Given the description of an element on the screen output the (x, y) to click on. 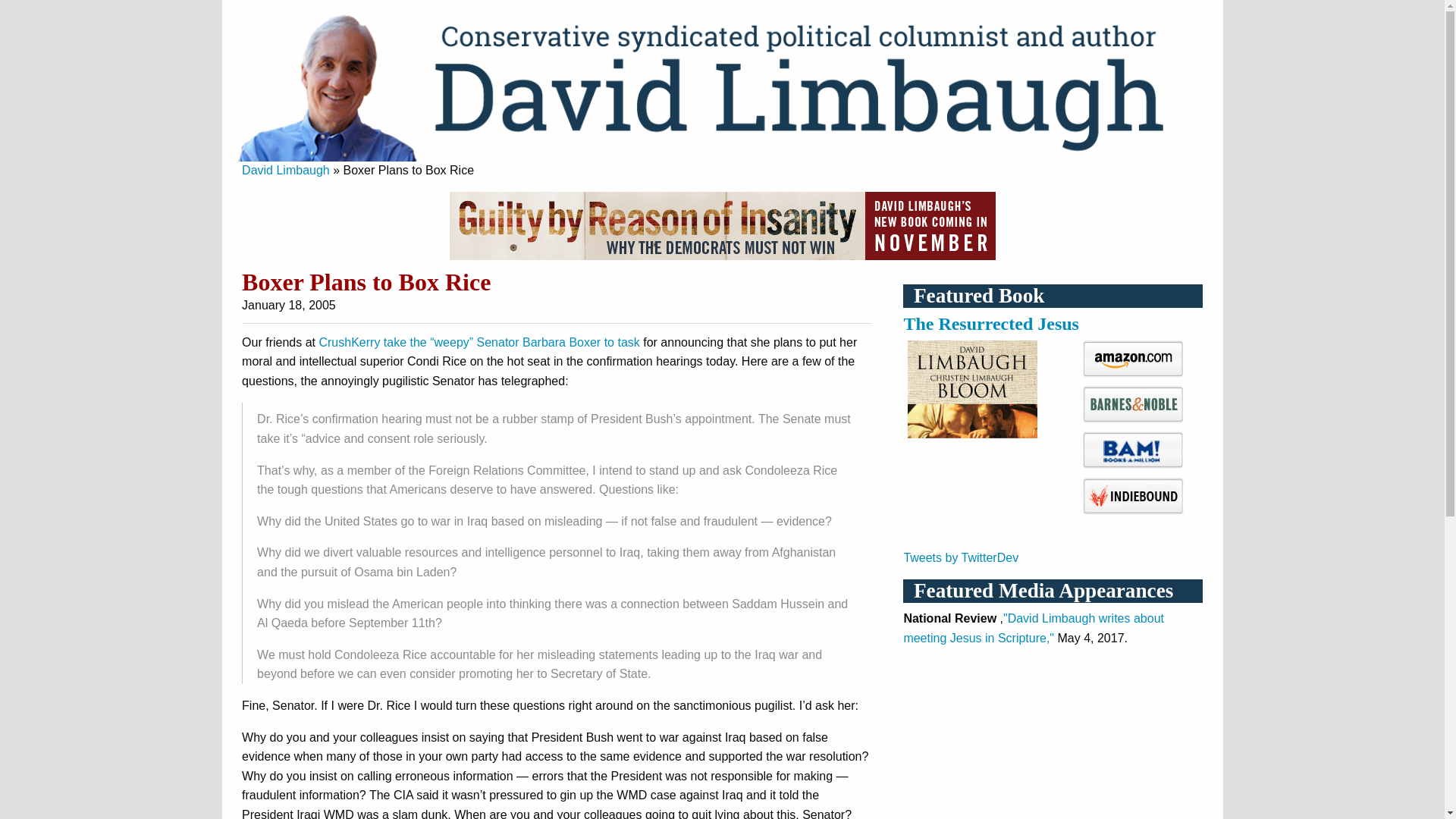
Tweets by TwitterDev (959, 557)
The Resurrected Jesus (990, 323)
David Limbaugh (285, 169)
"David Limbaugh writes about meeting Jesus in Scripture," (1032, 627)
